Given the description of an element on the screen output the (x, y) to click on. 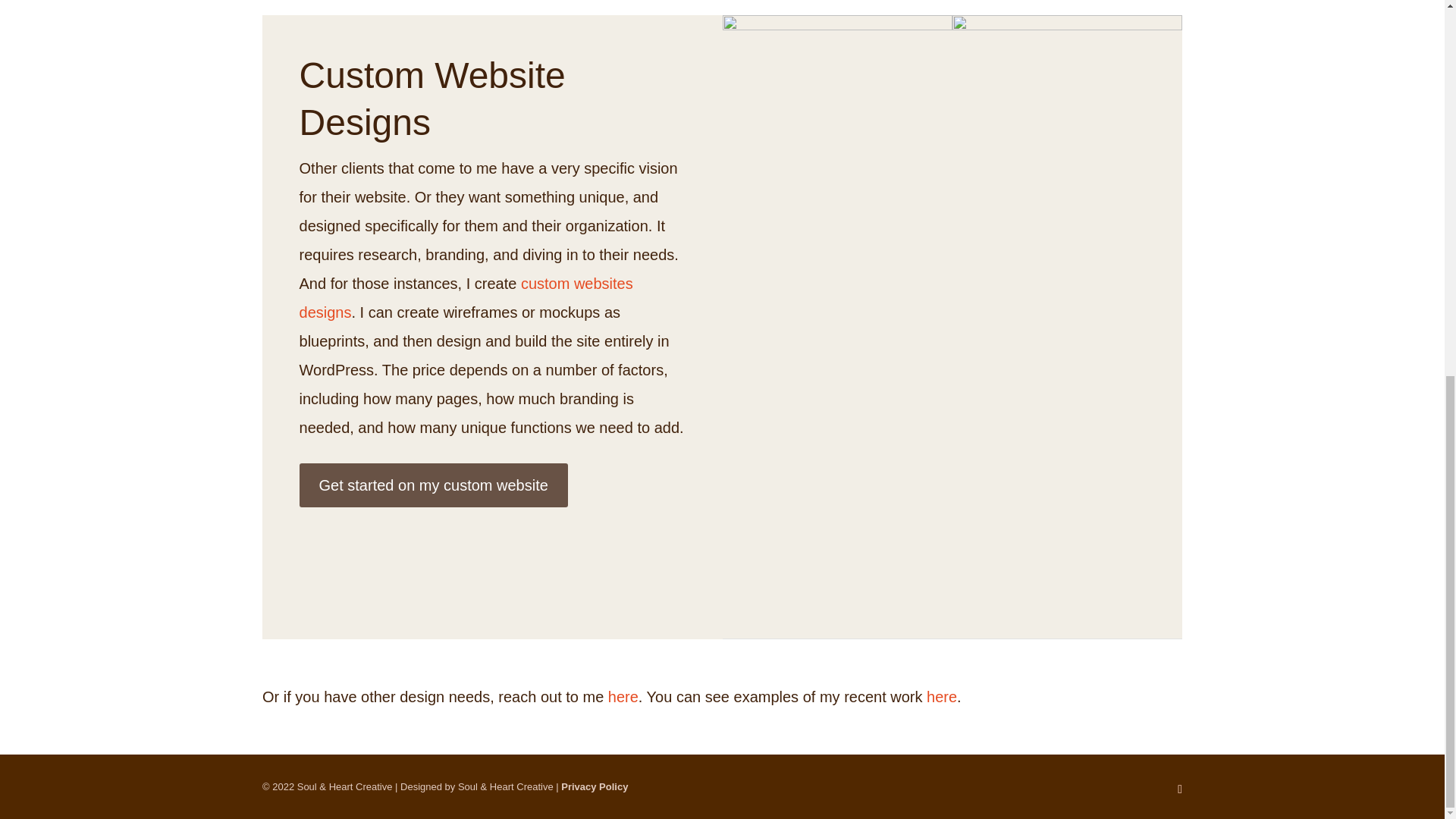
here (941, 696)
custom websites designs (466, 298)
here (623, 696)
Get started on my custom website (433, 484)
